Given the description of an element on the screen output the (x, y) to click on. 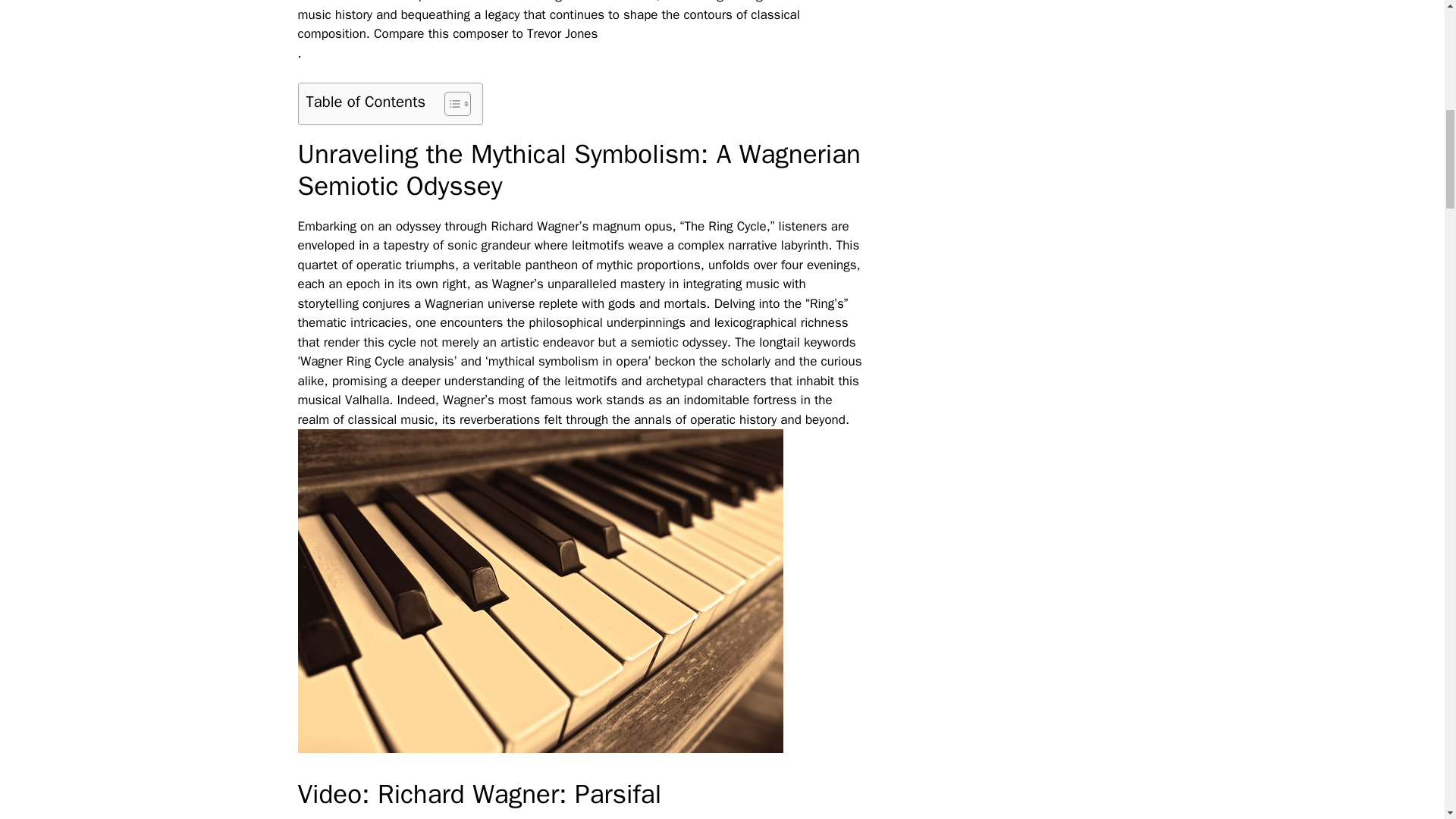
Trevor Jones (561, 33)
